Given the description of an element on the screen output the (x, y) to click on. 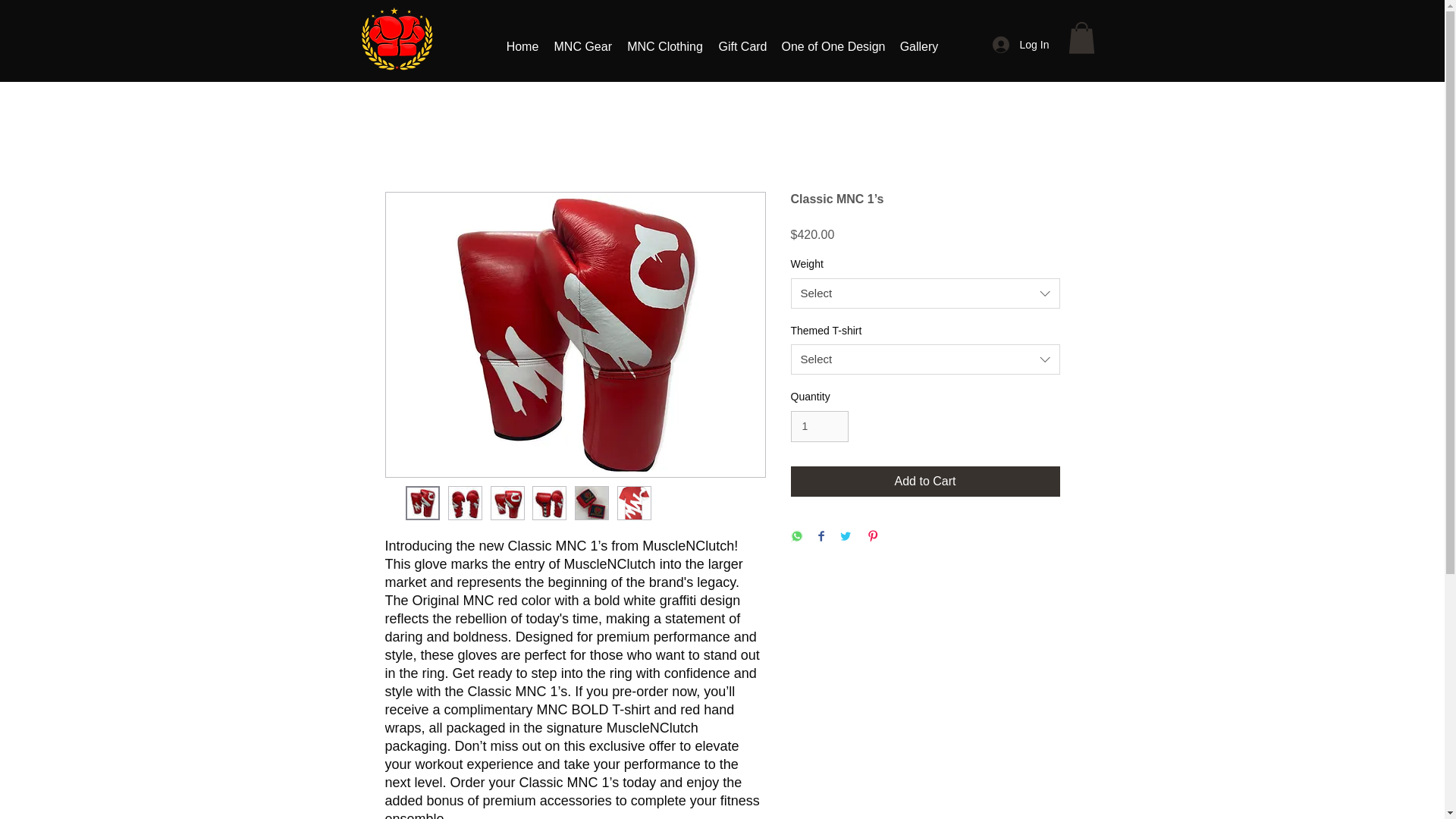
Home (523, 46)
Log In (1017, 44)
1 (818, 426)
Select (924, 358)
Gift Card (742, 46)
Select (924, 293)
Add to Cart (924, 481)
One of One Design (832, 46)
